Given the description of an element on the screen output the (x, y) to click on. 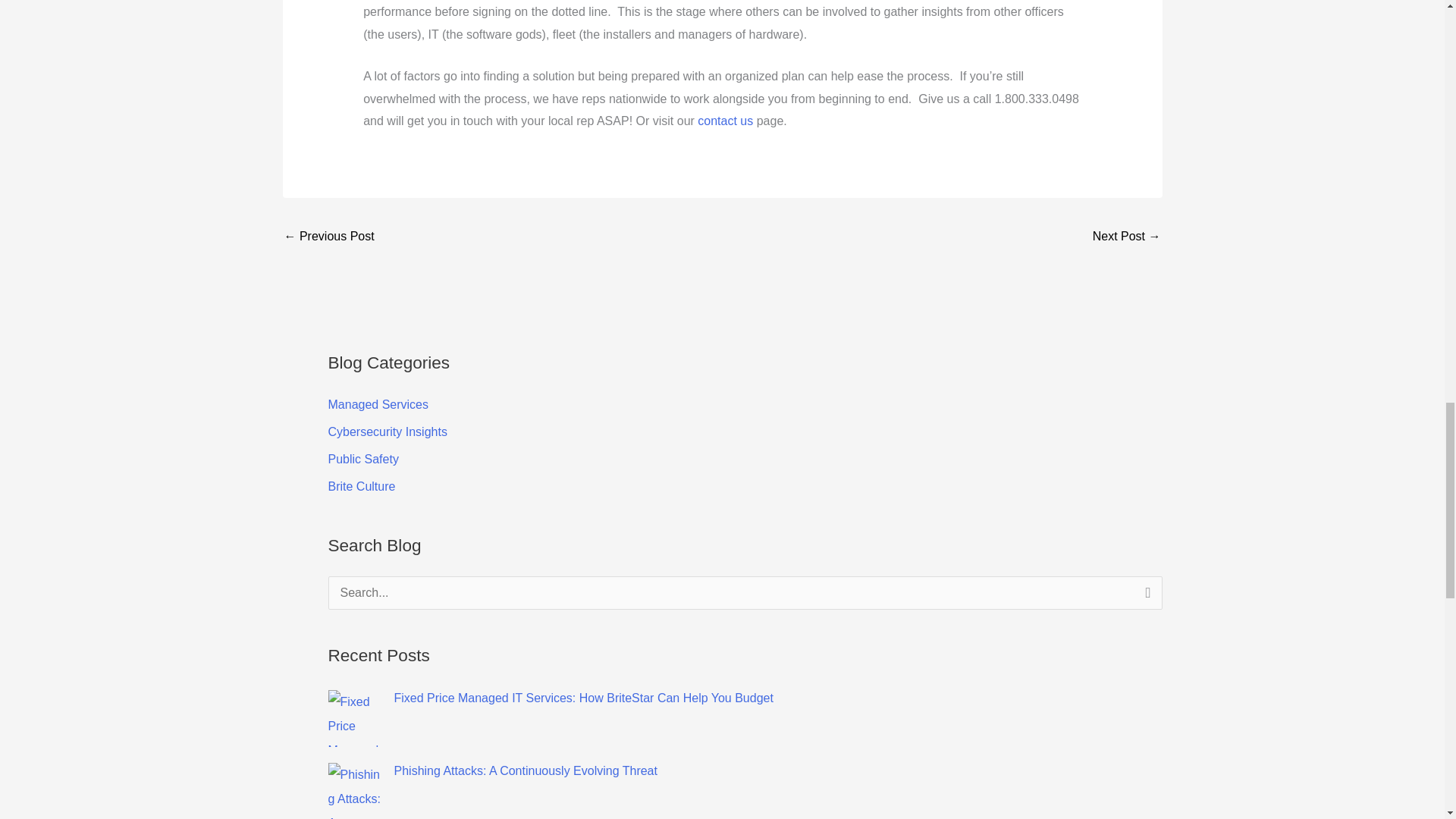
Search (1144, 597)
Securing a Network: Gain Control of Network Traffic (1126, 237)
4 tips if you're a victim of identity theft (328, 237)
Search (1144, 597)
